Given the description of an element on the screen output the (x, y) to click on. 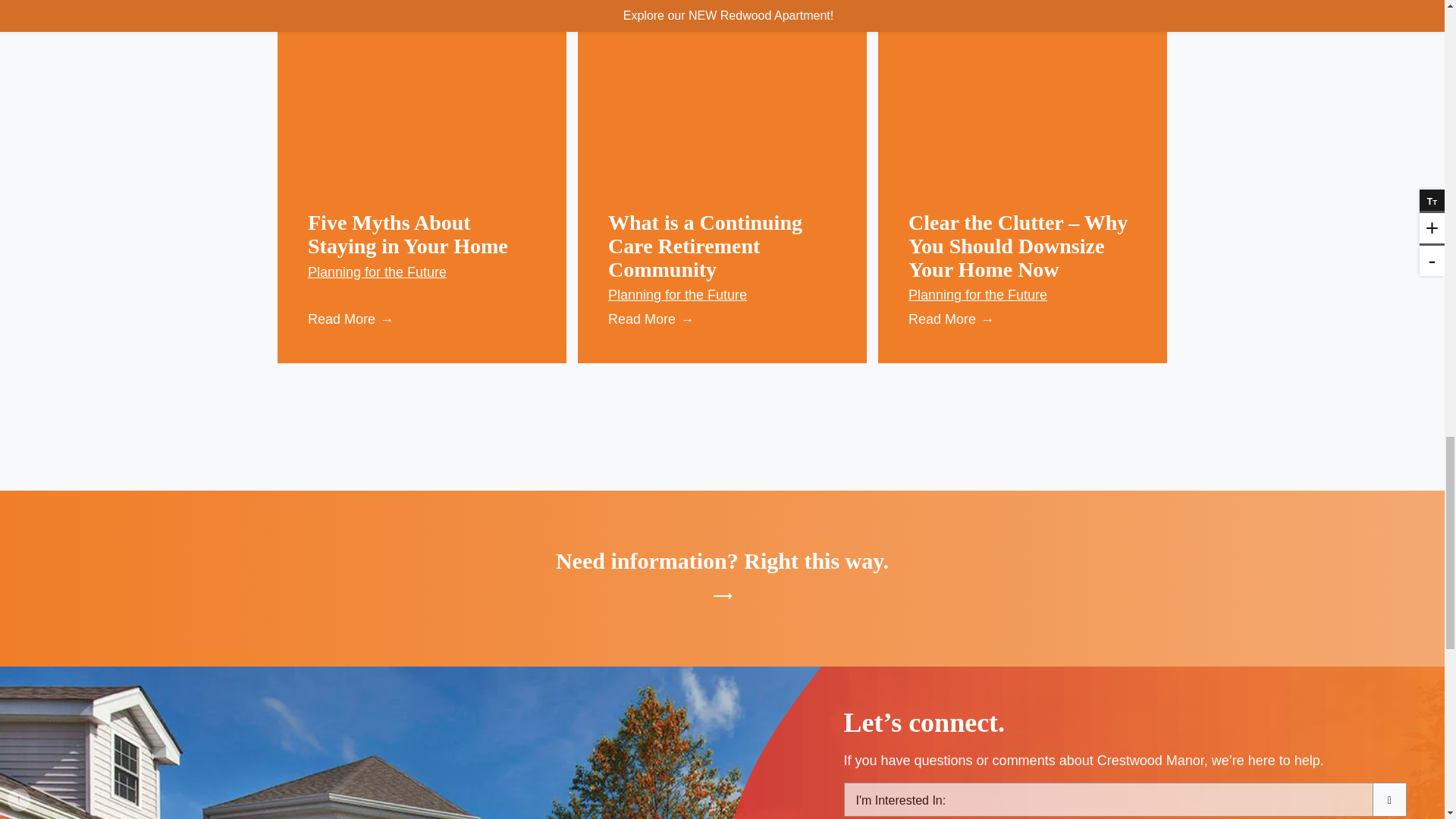
More about: Five Myths About Staying in Your Home (407, 233)
Planning for the Future (421, 272)
More about: What is a Continuing Care Retirement Community (705, 245)
Planning for the Future (1022, 295)
Planning for the Future (721, 295)
